Given the description of an element on the screen output the (x, y) to click on. 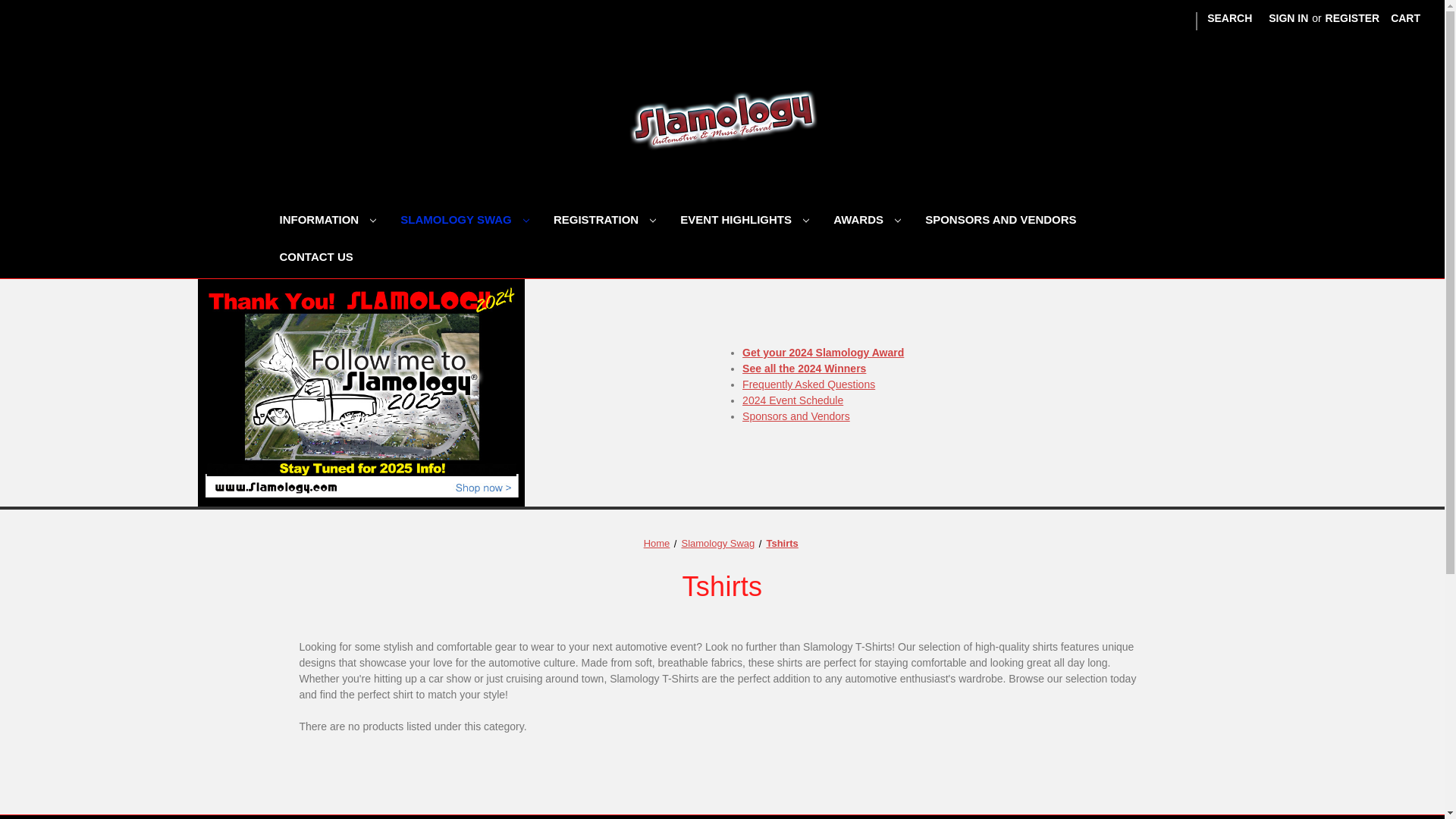
REGISTER (1353, 18)
SIGN IN (1288, 18)
SEARCH (1229, 18)
INFORMATION (327, 221)
Slamology 2022 (721, 117)
CART (1404, 18)
Slamology 2023 Sponsors and Vendors (796, 416)
REGISTRATION (604, 221)
SLAMOLOGY SWAG (464, 221)
